Given the description of an element on the screen output the (x, y) to click on. 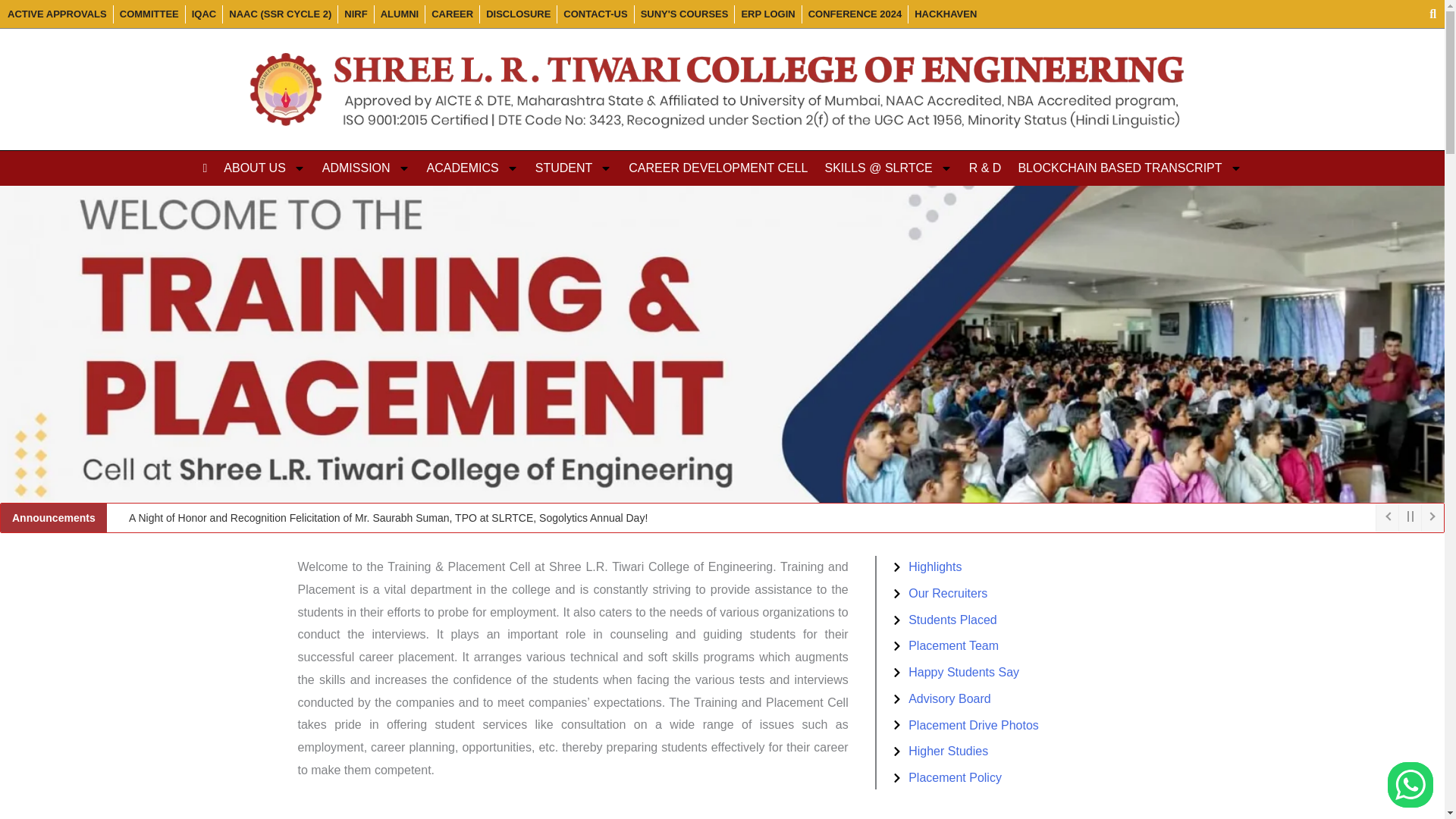
CAREER (451, 13)
COMMITTEE (149, 13)
ACTIVE APPROVALS (56, 13)
Search (1427, 13)
DISCLOSURE (518, 13)
HACKHAVEN (945, 13)
ERP LOGIN (767, 13)
SUNY'S COURSES (684, 13)
CONTACT-US (595, 13)
ALUMNI (399, 13)
NIRF (354, 13)
IQAC (204, 13)
CONFERENCE 2024 (855, 13)
